Given the description of an element on the screen output the (x, y) to click on. 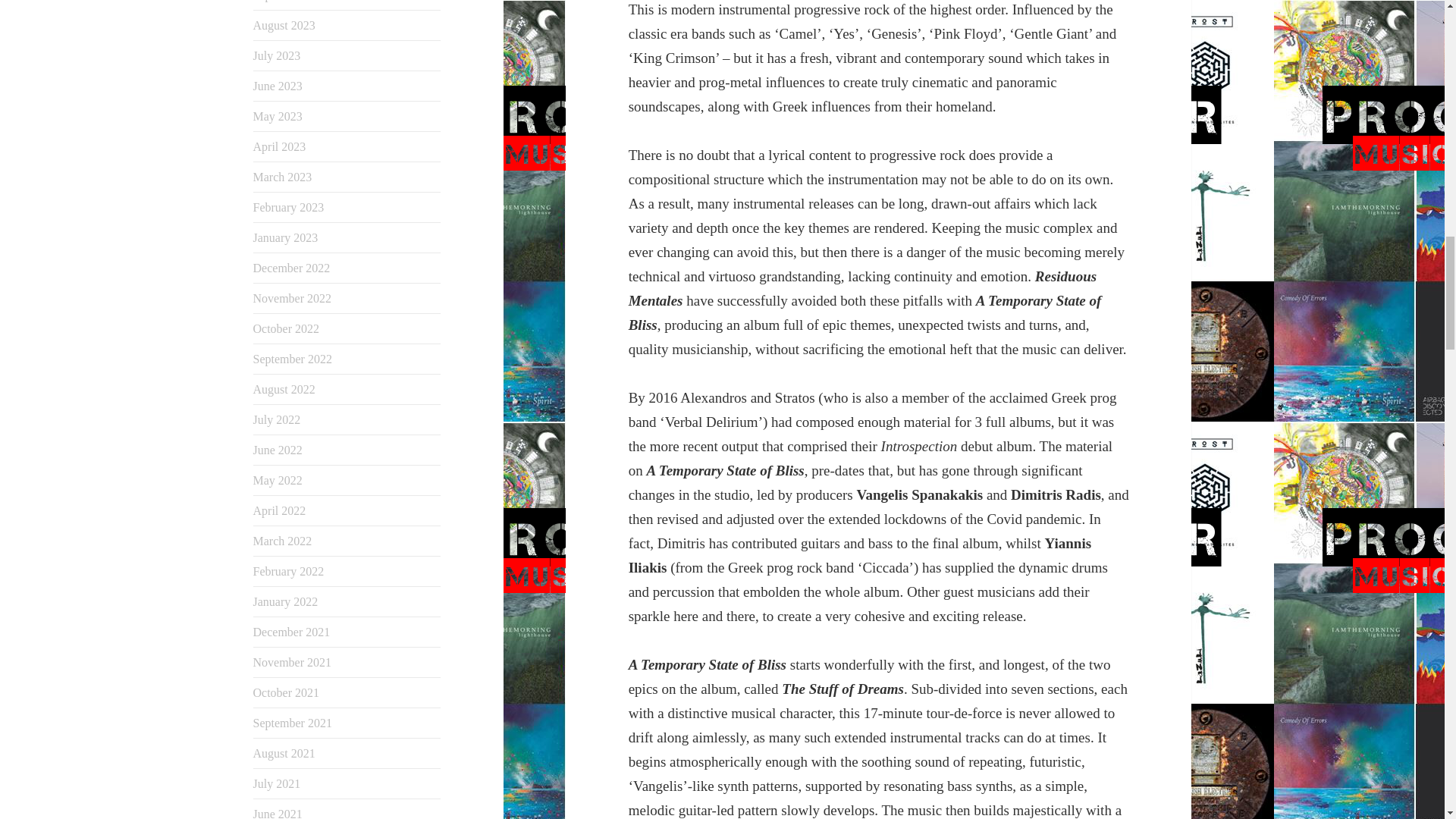
July 2023 (277, 55)
September 2023 (292, 0)
February 2023 (288, 206)
April 2023 (279, 146)
January 2023 (285, 237)
August 2023 (284, 24)
March 2023 (283, 176)
June 2023 (277, 85)
November 2022 (292, 297)
May 2023 (277, 115)
December 2022 (291, 267)
October 2022 (286, 328)
